Given the description of an element on the screen output the (x, y) to click on. 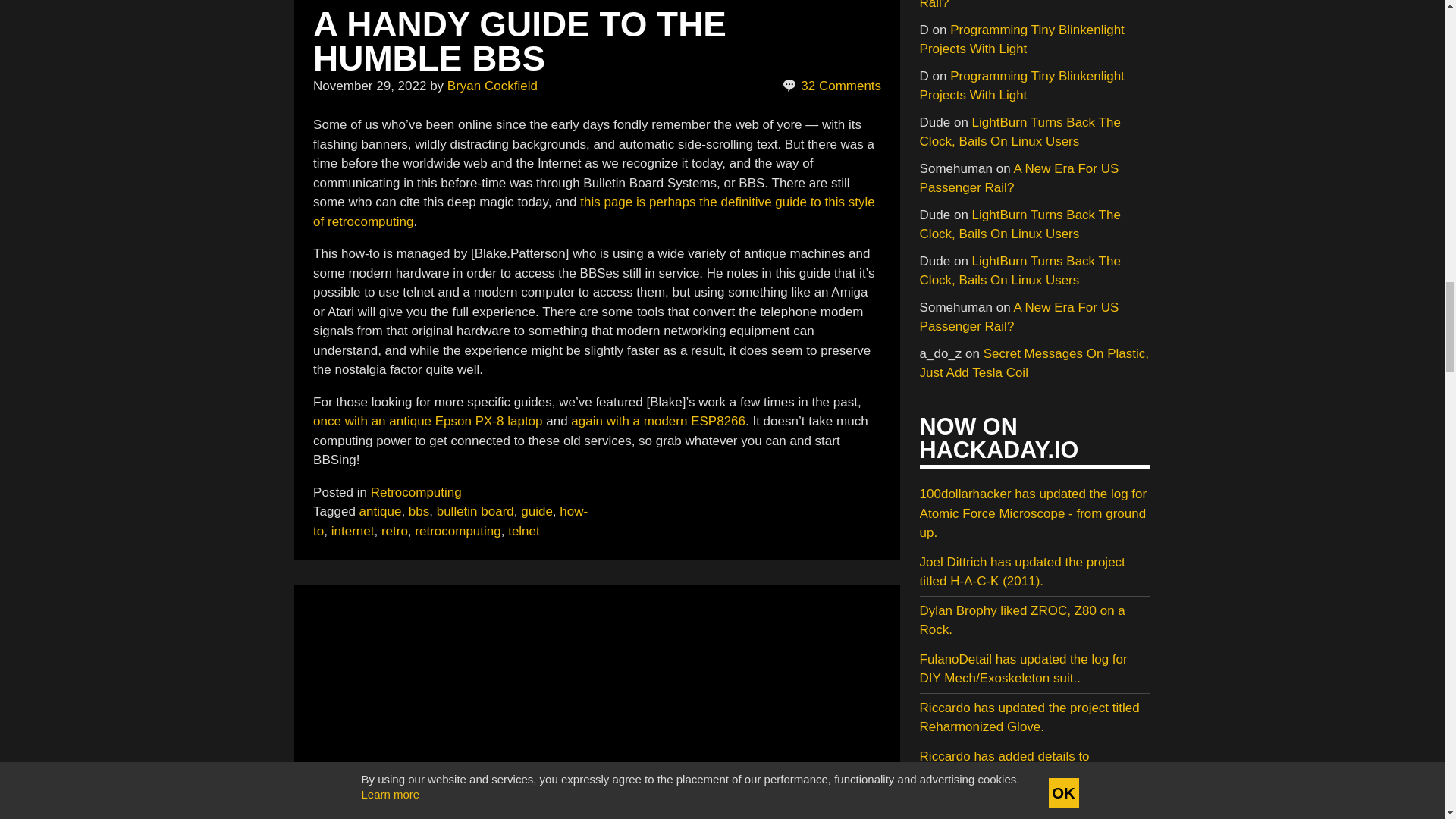
Posts by Bryan Cockfield (491, 85)
November 29, 2022 - 1:00 am (369, 85)
